Given the description of an element on the screen output the (x, y) to click on. 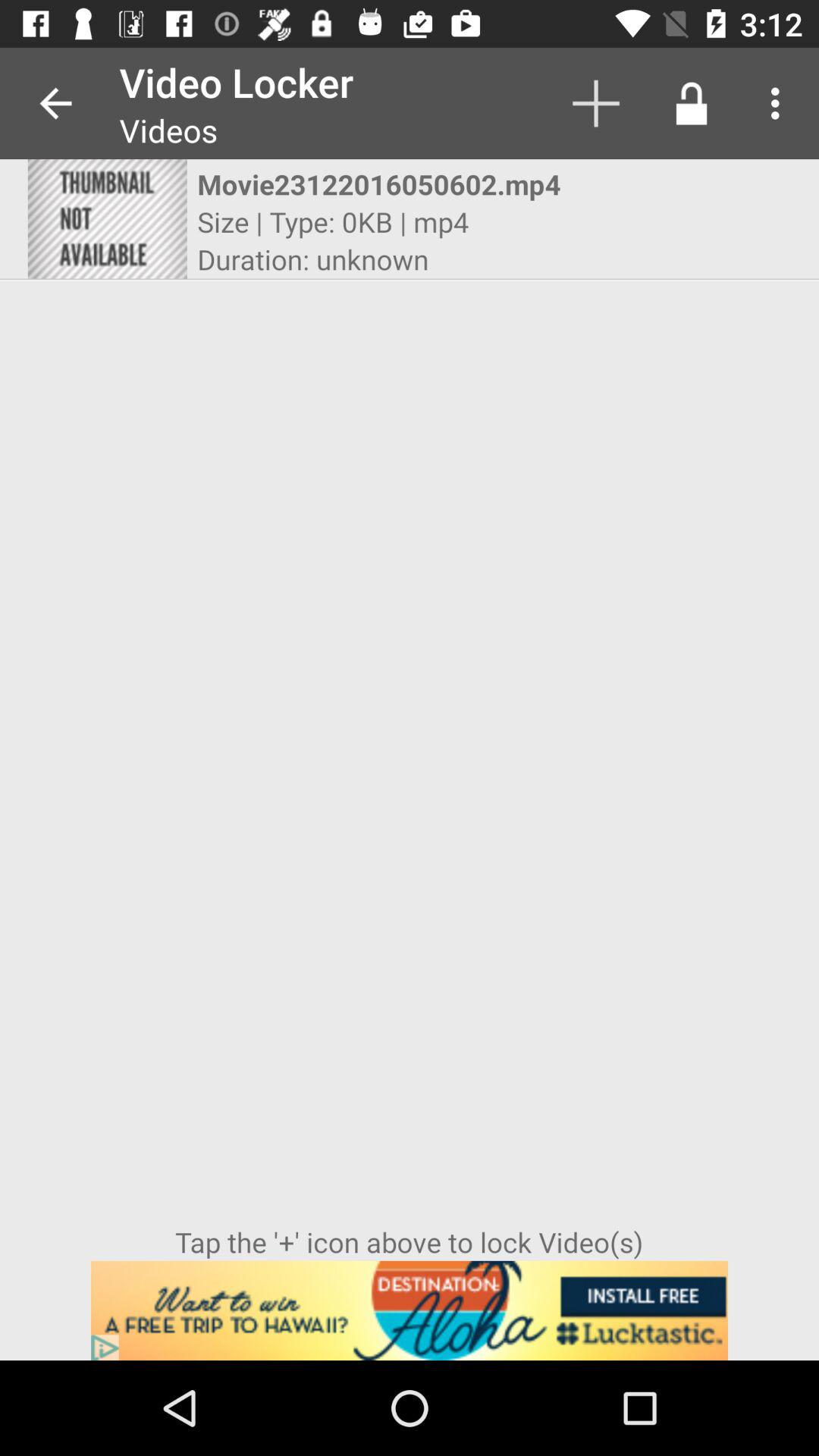
turn on the item above movie23122016050602.mp4 item (595, 103)
